Given the description of an element on the screen output the (x, y) to click on. 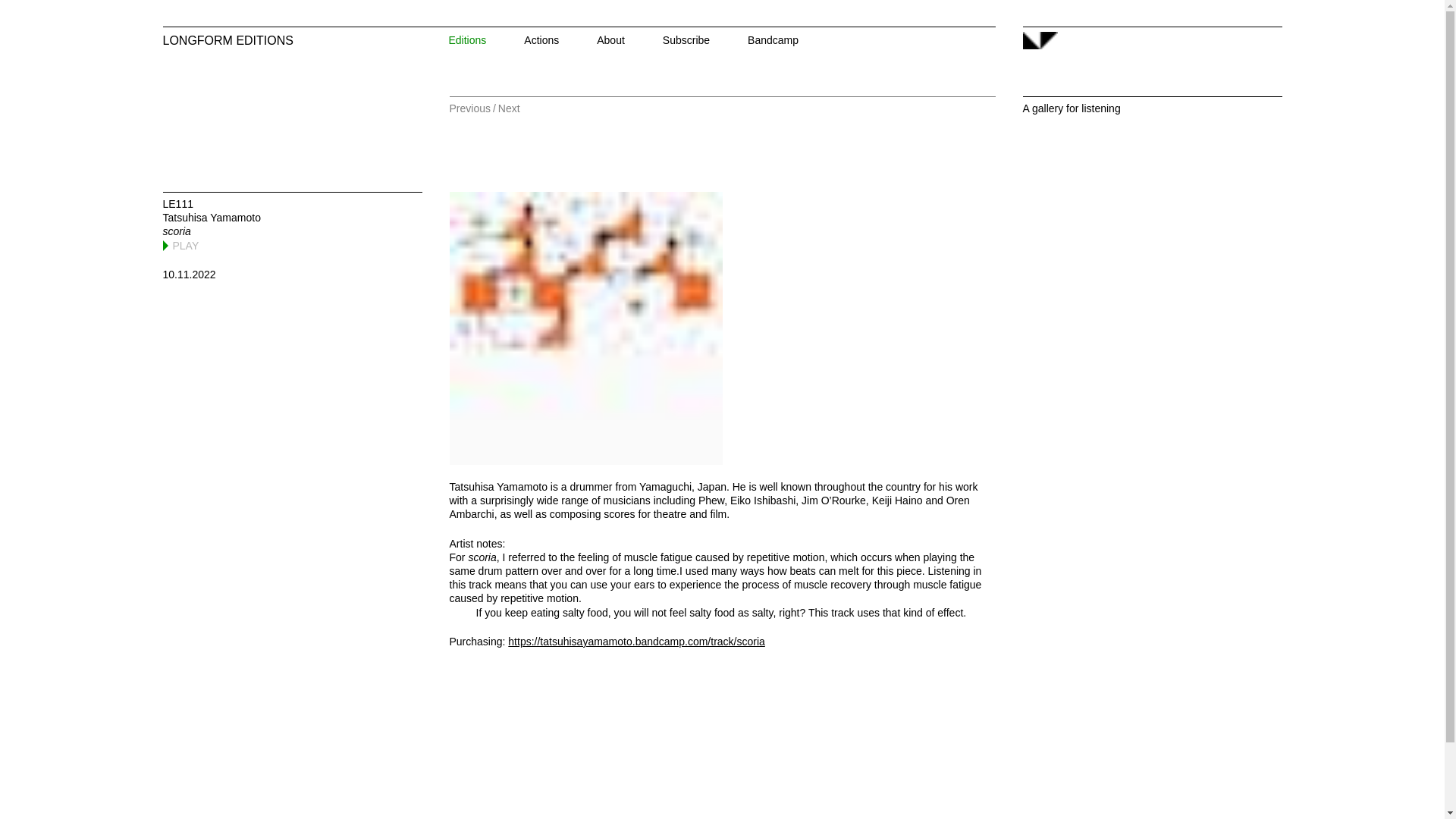
Actions (560, 40)
PLAY (182, 245)
About (629, 40)
LONGFORM EDITIONS (300, 40)
Previous (468, 108)
Next (508, 108)
Subscribe (705, 40)
Bandcamp (791, 40)
Editions (486, 40)
